Given the description of an element on the screen output the (x, y) to click on. 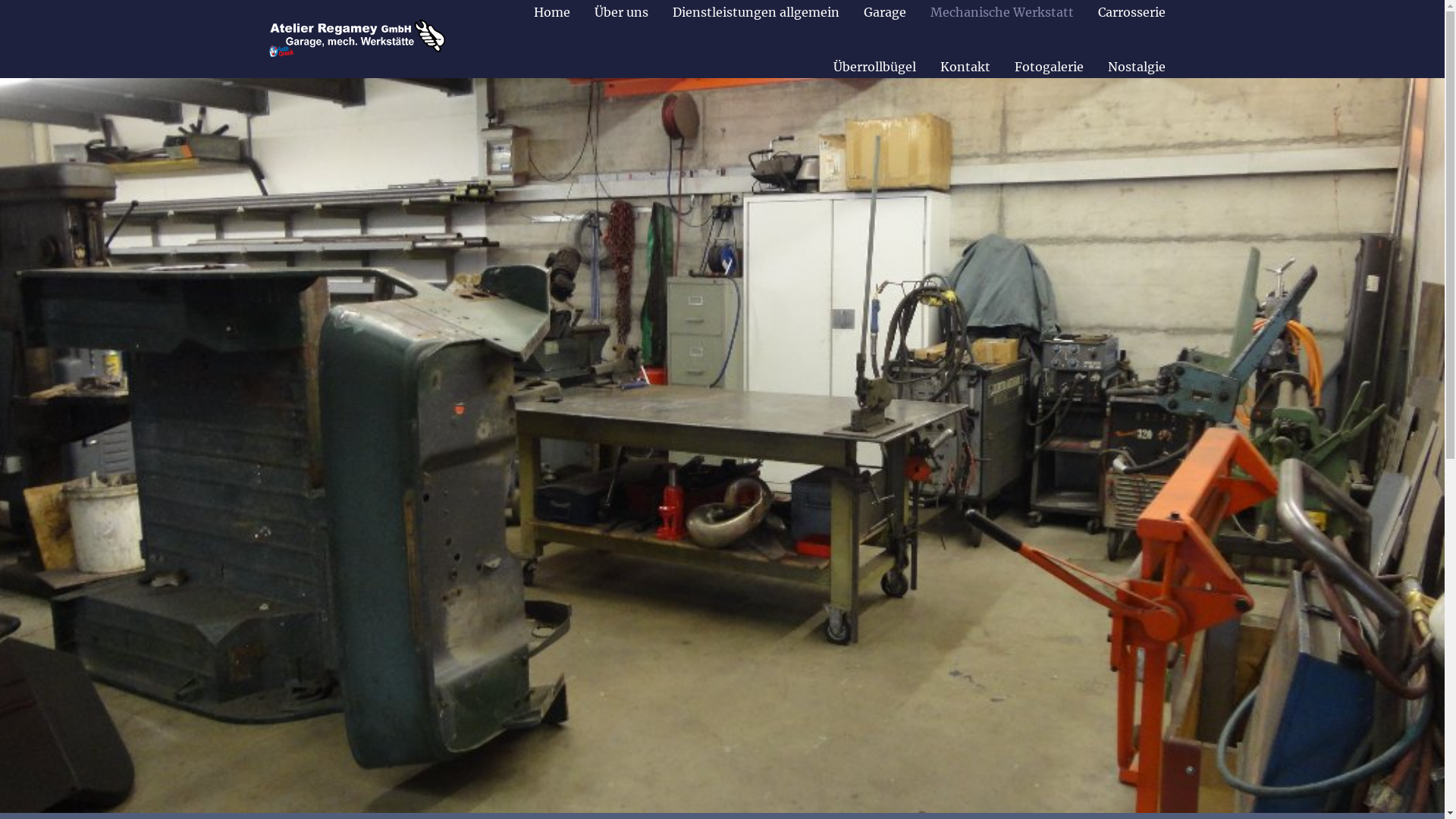
Nostalgie Element type: text (1135, 66)
Kontakt Element type: text (965, 66)
Fotogalerie Element type: text (1048, 66)
